Given the description of an element on the screen output the (x, y) to click on. 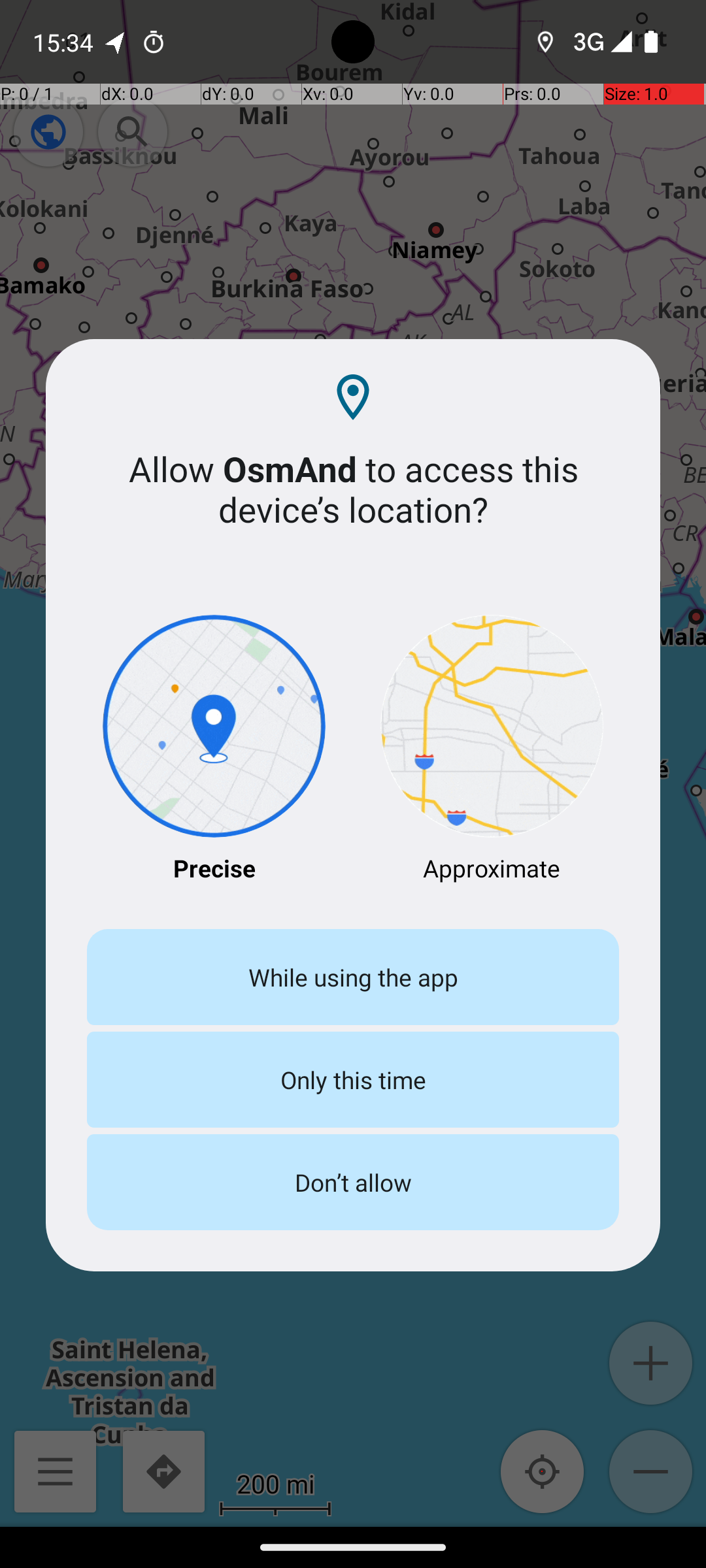
Allow OsmAnd to access this device’s location? Element type: android.widget.TextView (352, 488)
While using the app Element type: android.widget.Button (352, 977)
Only this time Element type: android.widget.Button (352, 1079)
Precise Element type: android.widget.RadioButton (213, 749)
Approximate Element type: android.widget.RadioButton (491, 749)
